Given the description of an element on the screen output the (x, y) to click on. 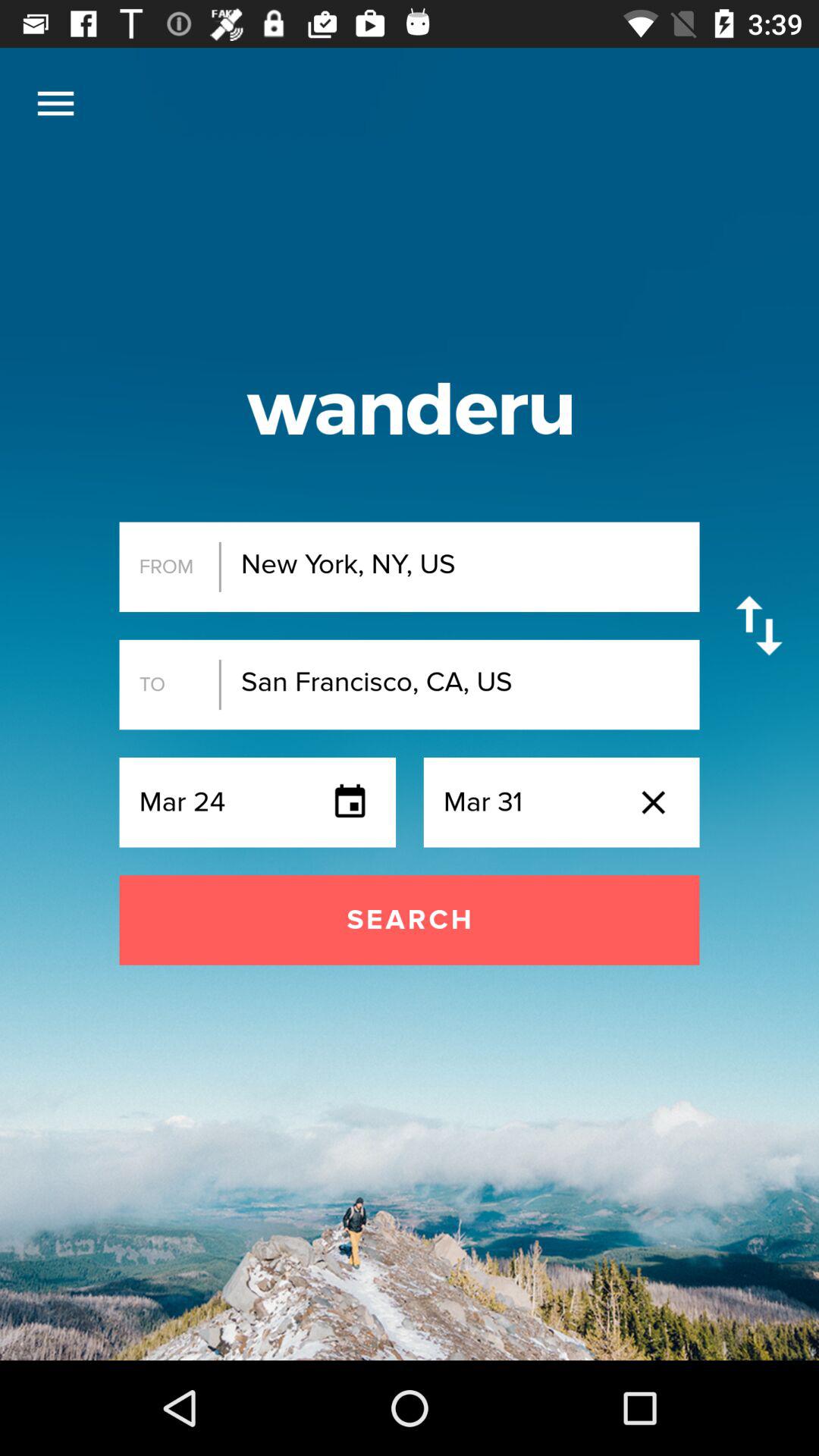
select the item to the right of the new york ny item (759, 625)
